Given the description of an element on the screen output the (x, y) to click on. 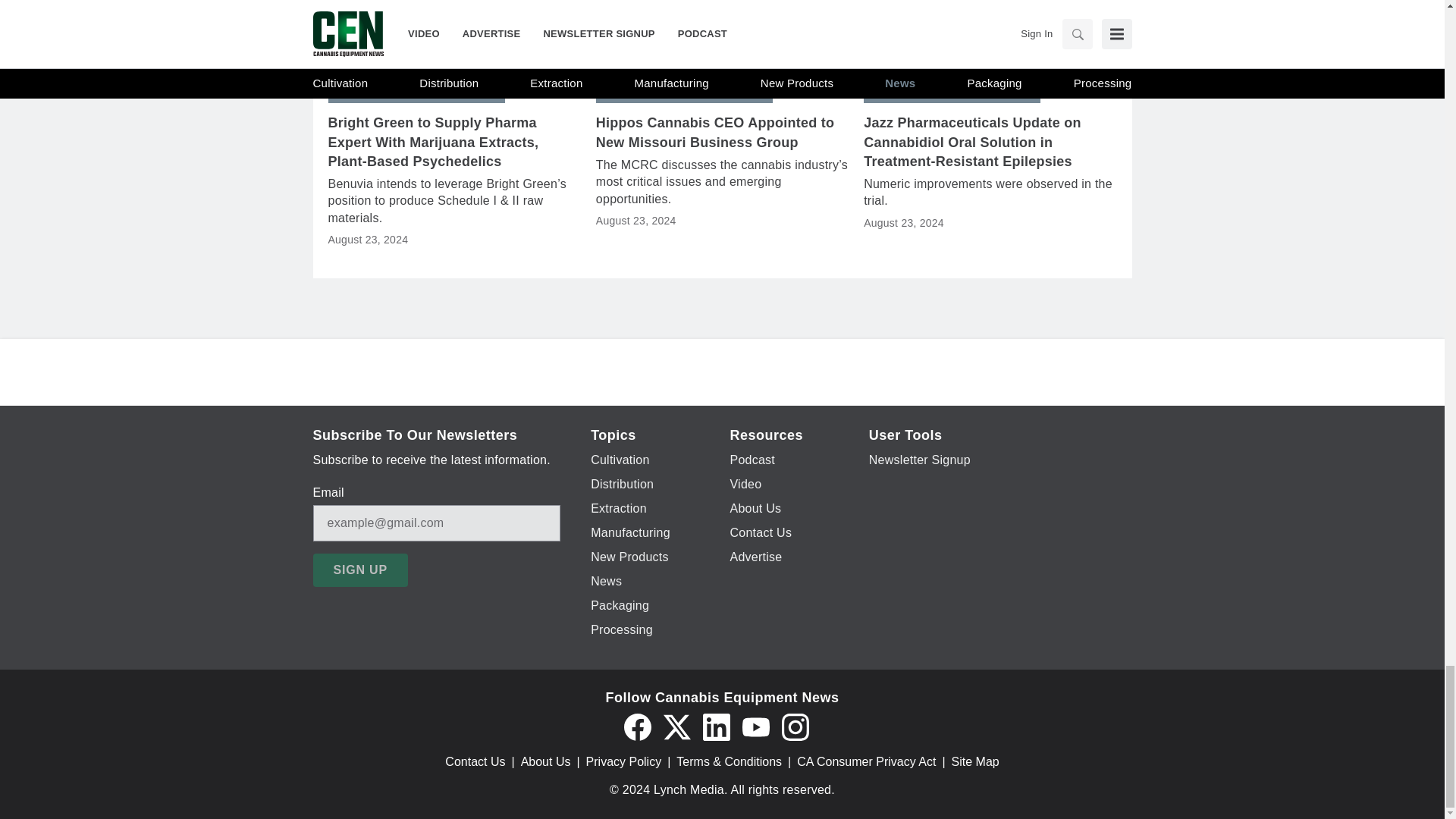
Facebook icon (636, 727)
Twitter X icon (676, 727)
YouTube icon (754, 727)
LinkedIn icon (715, 727)
Instagram icon (794, 727)
